Given the description of an element on the screen output the (x, y) to click on. 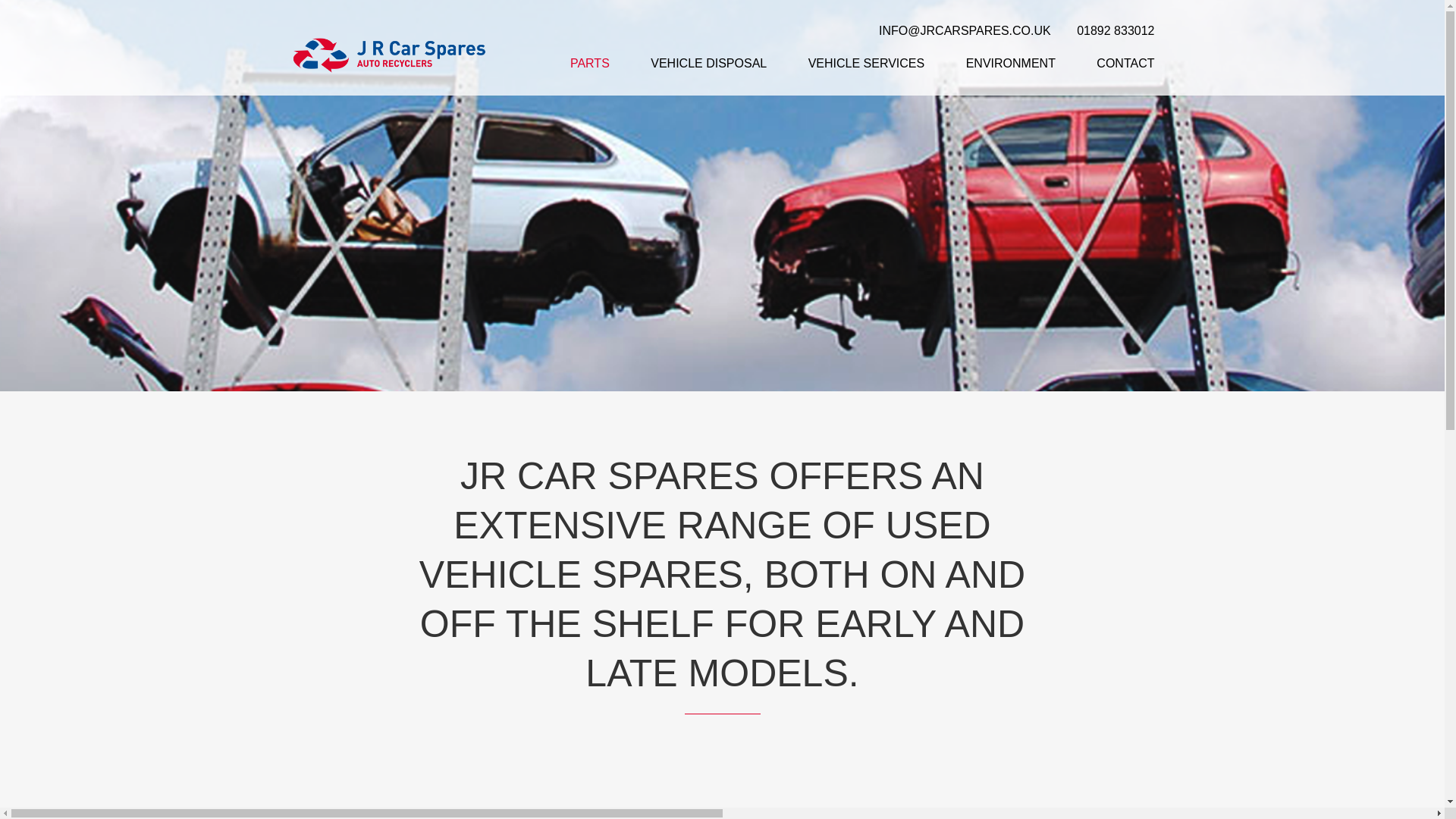
VEHICLE SERVICES (866, 62)
ENVIRONMENT (1010, 62)
PARTS (590, 62)
VEHICLE DISPOSAL (708, 62)
CONTACT (1125, 62)
